Given the description of an element on the screen output the (x, y) to click on. 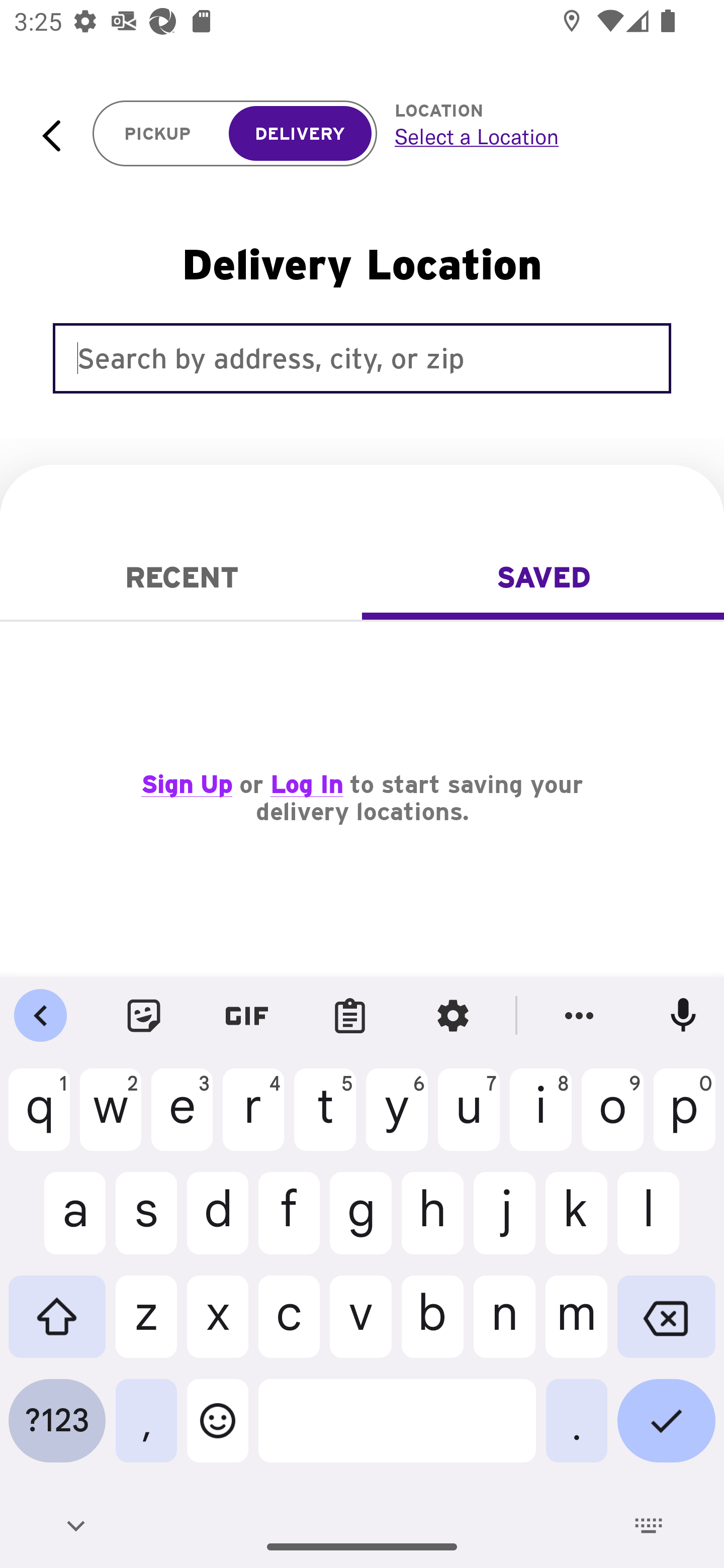
PICKUP (157, 133)
DELIVERY (299, 133)
Select a Location (536, 136)
Search by address, city, or zip (361, 358)
Recent RECENT (181, 576)
